Given the description of an element on the screen output the (x, y) to click on. 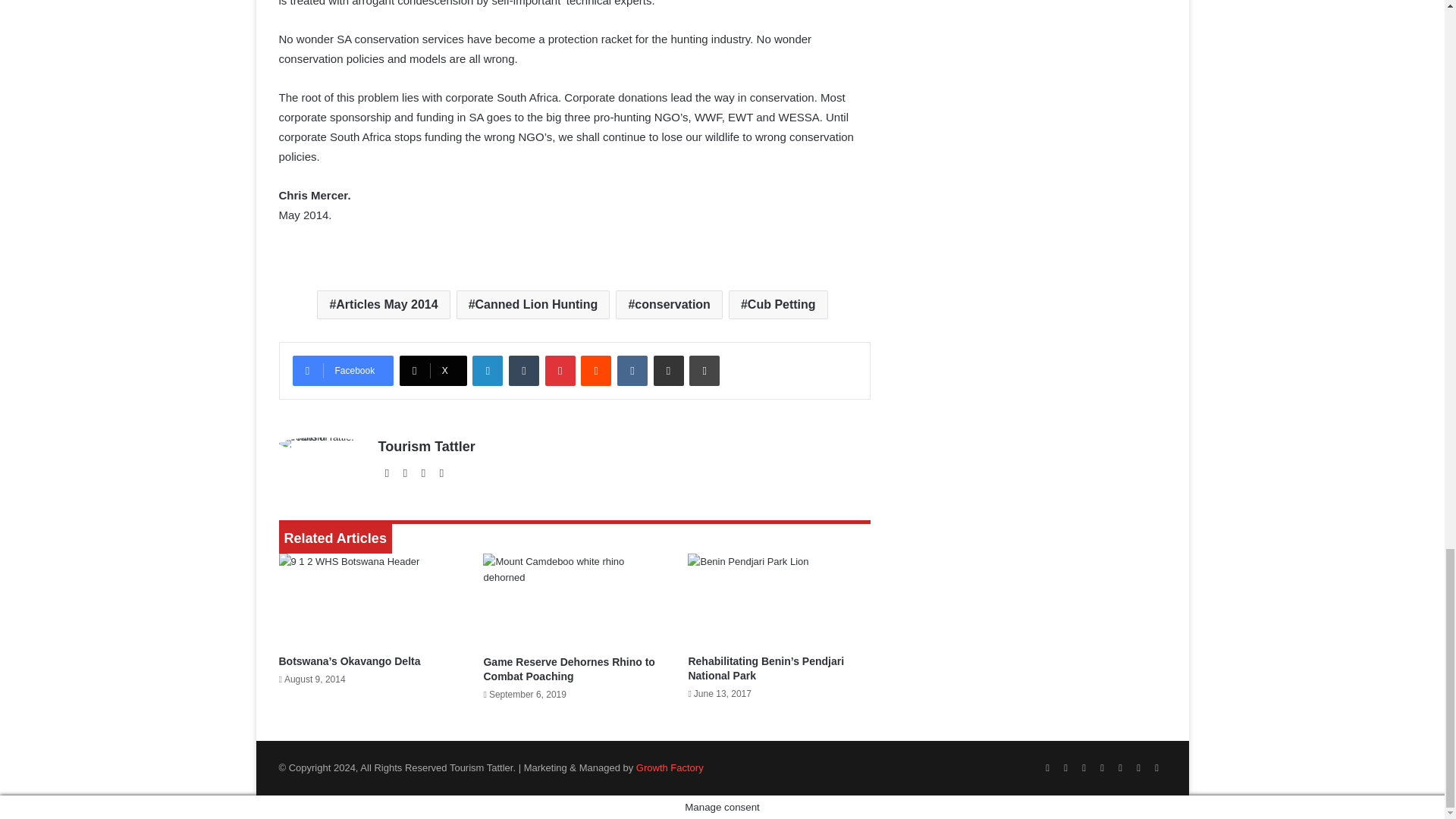
Tumblr (523, 370)
LinkedIn (486, 370)
VKontakte (632, 370)
X (432, 370)
Share via Email (668, 370)
Facebook (343, 370)
Pinterest (559, 370)
Reddit (595, 370)
Print (703, 370)
